Given the description of an element on the screen output the (x, y) to click on. 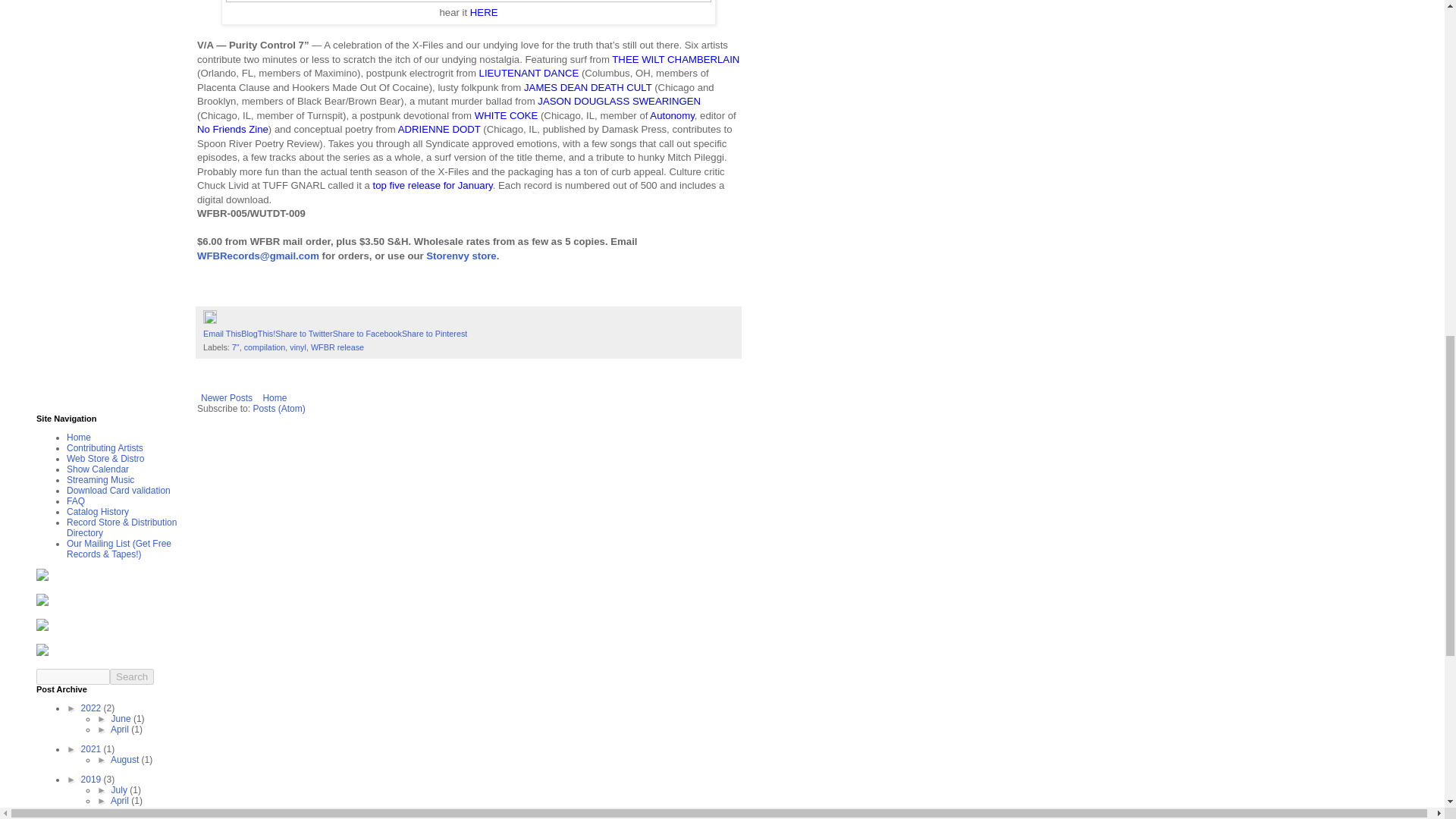
Search (132, 676)
Newer Posts (226, 398)
LIEUTENANT DANCE (529, 72)
search (132, 676)
FAQ (75, 501)
Show Calendar (97, 469)
Edit Post (209, 320)
Share to Twitter (303, 333)
Search (132, 676)
ADRIENNE DODT (438, 129)
Share to Pinterest (434, 333)
Share to Pinterest (434, 333)
top five release for January (432, 184)
Storenvy store (461, 255)
vinyl (297, 347)
